Given the description of an element on the screen output the (x, y) to click on. 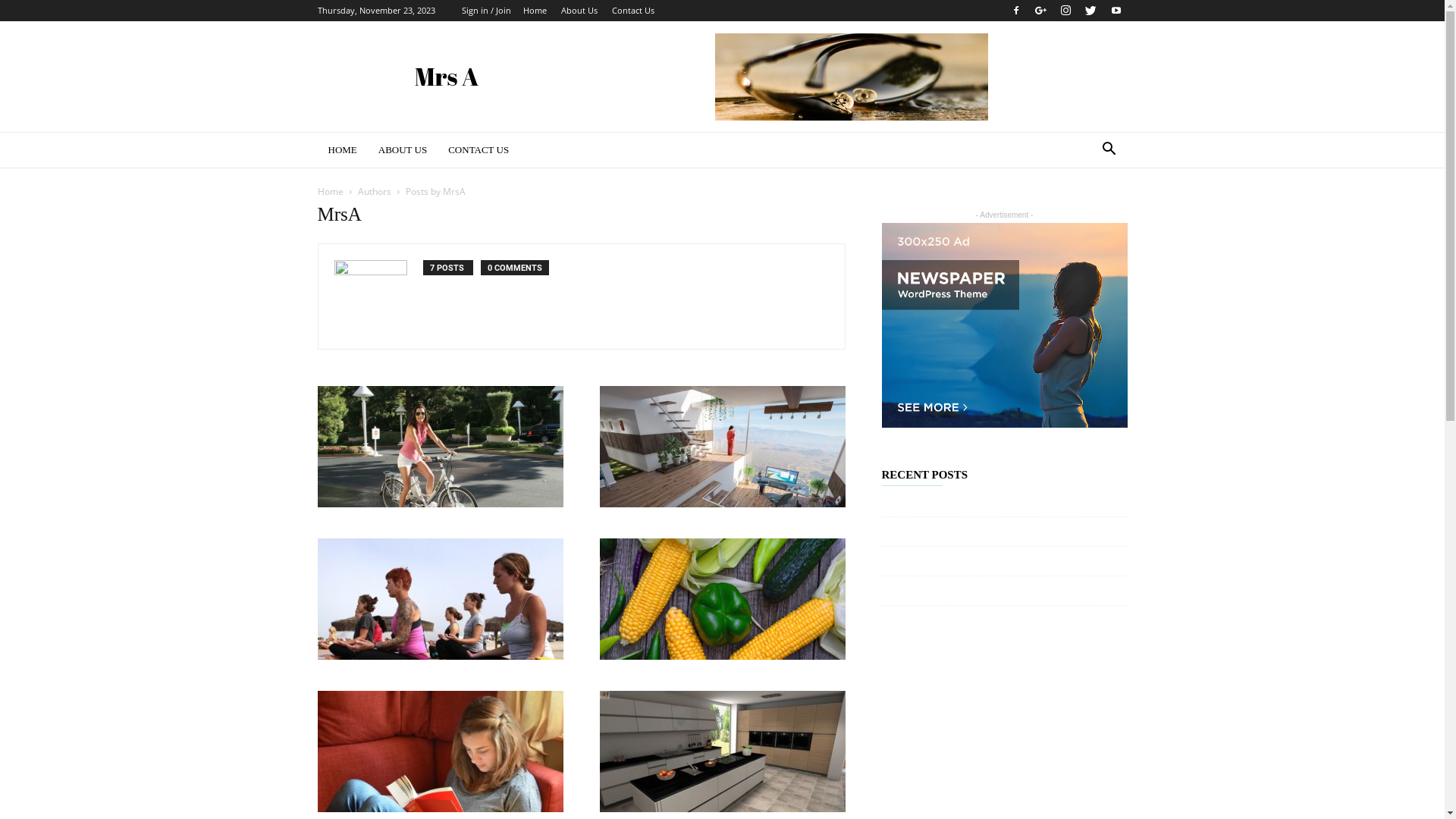
Contact Us Element type: text (632, 9)
Google+ Element type: hover (1040, 10)
Instagram Element type: hover (1065, 10)
HOME Element type: text (341, 149)
Sign in / Join Element type: text (485, 9)
Facebook Element type: hover (1015, 10)
Twitter Element type: hover (1090, 10)
ABOUT US Element type: text (402, 149)
Search Element type: text (1084, 210)
Home Element type: text (534, 9)
Home Element type: text (329, 191)
Youtube Element type: hover (1115, 10)
CONTACT US Element type: text (478, 149)
About Us Element type: text (579, 9)
